Given the description of an element on the screen output the (x, y) to click on. 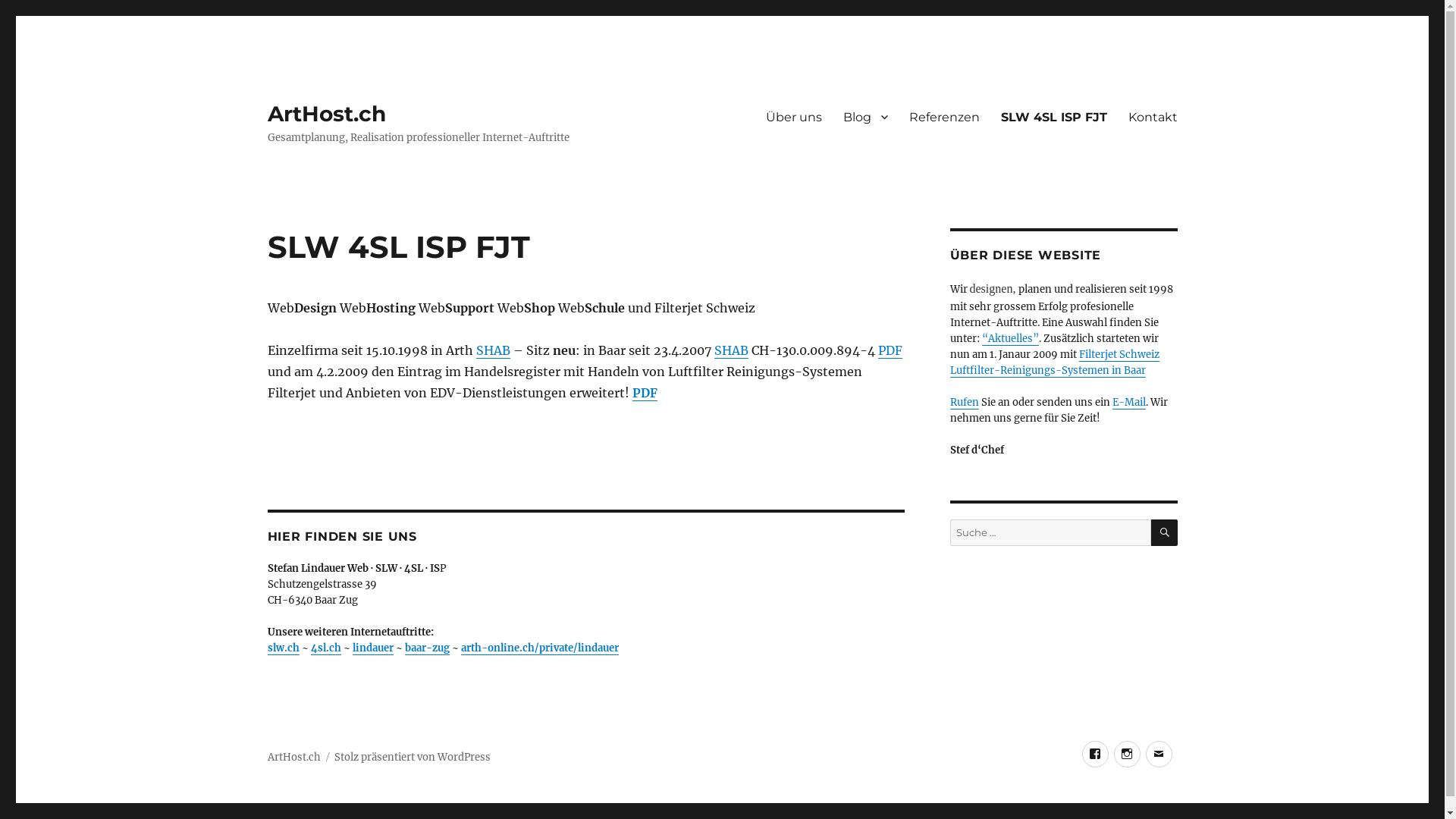
ArtHost.ch Element type: text (325, 113)
SHAB Element type: text (731, 349)
E-Mail Element type: text (1158, 753)
baar-zug Element type: text (426, 647)
slw.ch Element type: text (282, 647)
lindauer Element type: text (371, 647)
E-Mail Element type: text (1128, 401)
SUCHE Element type: text (1164, 532)
Filterjet Schweiz Luftfilter-Reinigungs-Systemen in Baar Element type: text (1053, 362)
Facebook Stepan Lindauer Element type: text (1094, 753)
PDF Element type: text (890, 349)
4sl.ch Element type: text (325, 647)
Blog Element type: text (865, 116)
SHAB Element type: text (493, 349)
arth-online.ch/private/lindauer Element type: text (539, 647)
PDF Element type: text (644, 392)
Kontakt Element type: text (1152, 116)
Rufen Element type: text (963, 401)
ArtHost.ch Element type: text (293, 756)
SLW 4SL ISP FJT Element type: text (1053, 116)
Referenzen Element type: text (943, 116)
Instagram Element type: text (1126, 753)
